Given the description of an element on the screen output the (x, y) to click on. 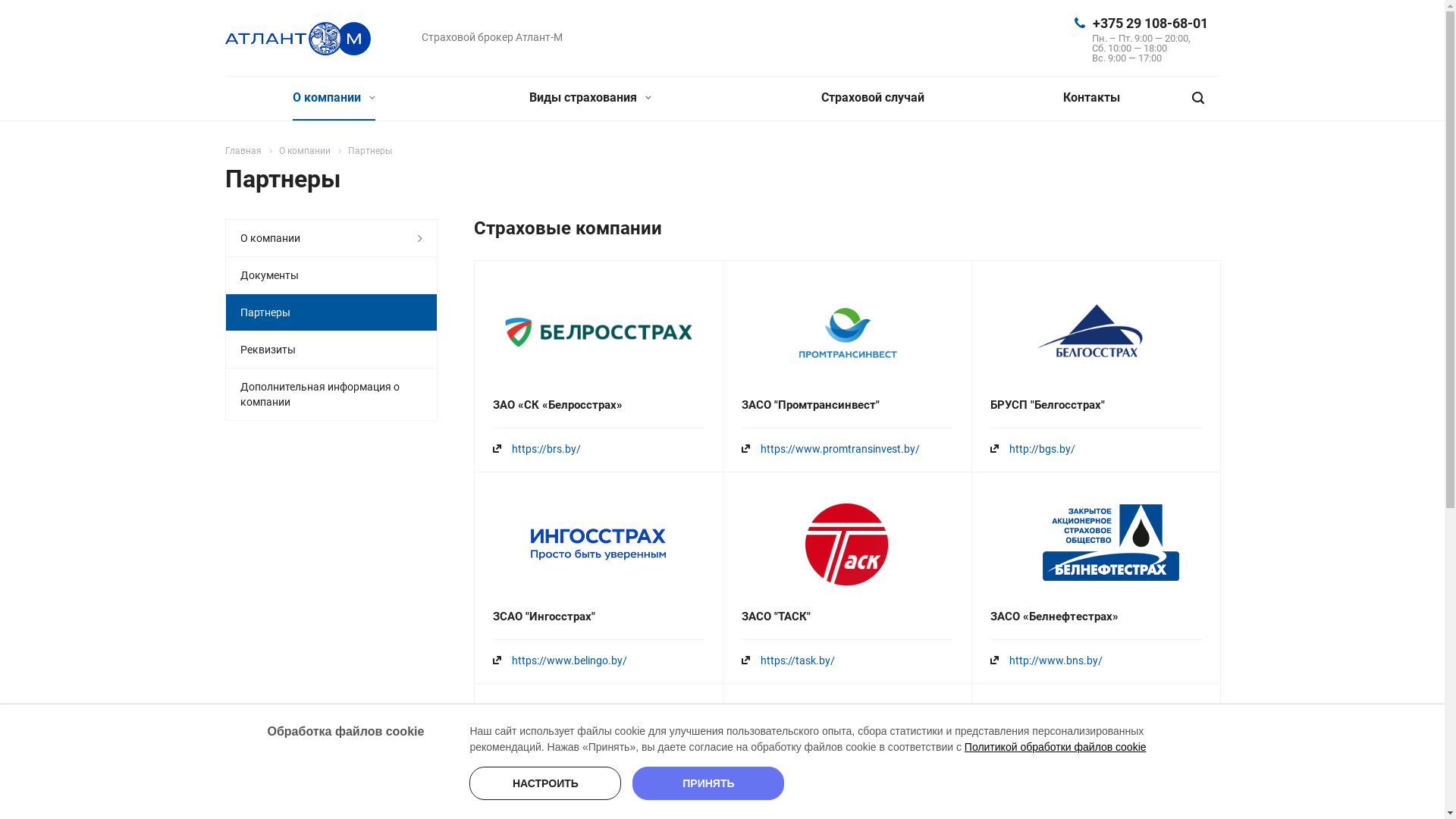
http://www.bns.by/ Element type: text (1054, 660)
http://bgs.by/ Element type: text (1041, 448)
https://www.promtransinvest.by/ Element type: text (839, 448)
+375 29 108-68-01 Element type: text (1149, 23)
https://brs.by/ Element type: text (545, 448)
https://task.by/ Element type: text (796, 660)
https://www.belingo.by/ Element type: text (568, 660)
